Given the description of an element on the screen output the (x, y) to click on. 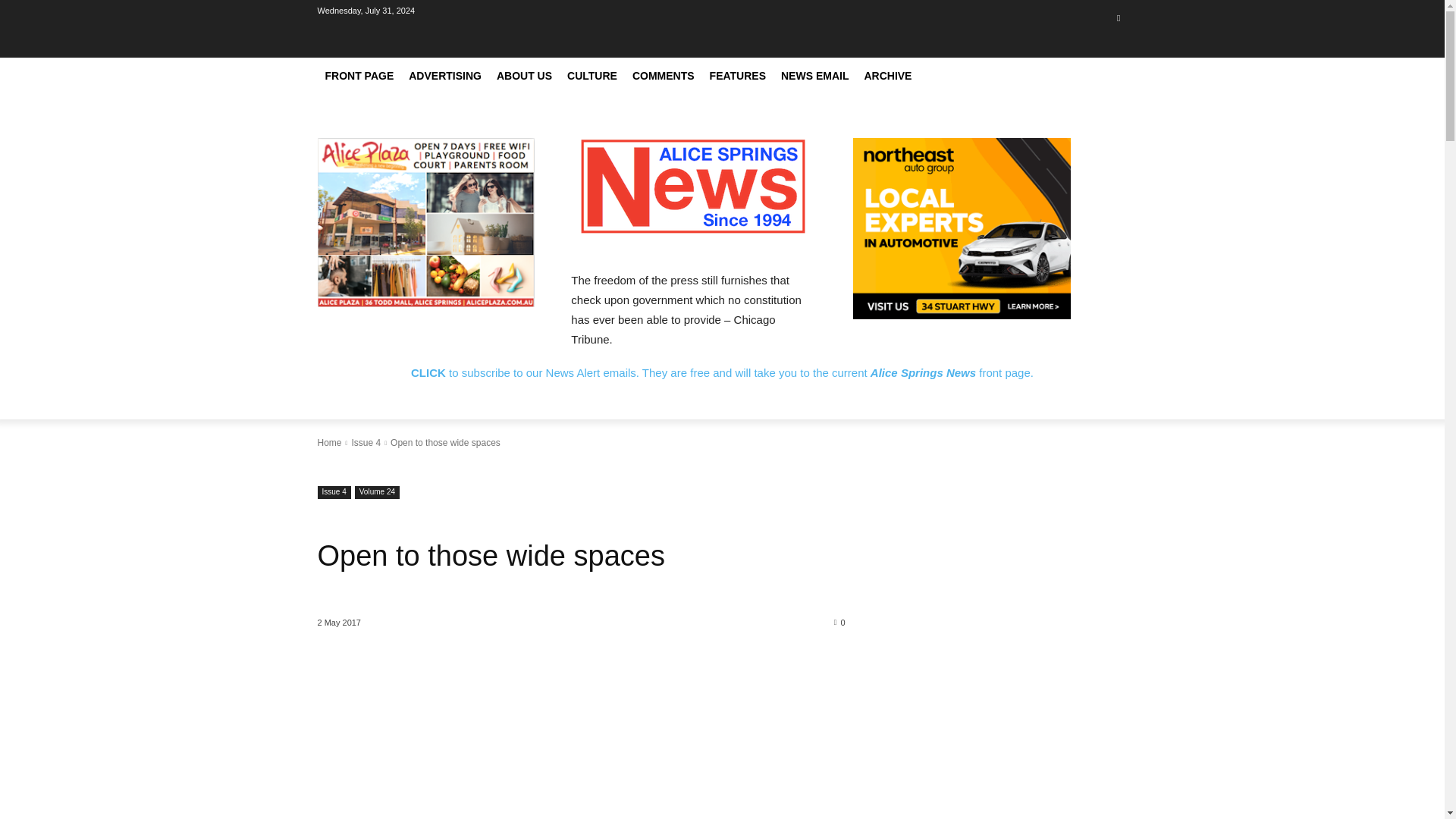
NEWS EMAIL (814, 75)
FEATURES (737, 75)
COMMENTS (662, 75)
Home (328, 442)
FRONT PAGE (359, 75)
ABOUT US (524, 75)
CULTURE (591, 75)
ARCHIVE (887, 75)
Issue 4 (333, 492)
Issue 4 (365, 442)
ADVERTISING (445, 75)
Facebook (1117, 17)
View all posts in Issue 4 (365, 442)
